Given the description of an element on the screen output the (x, y) to click on. 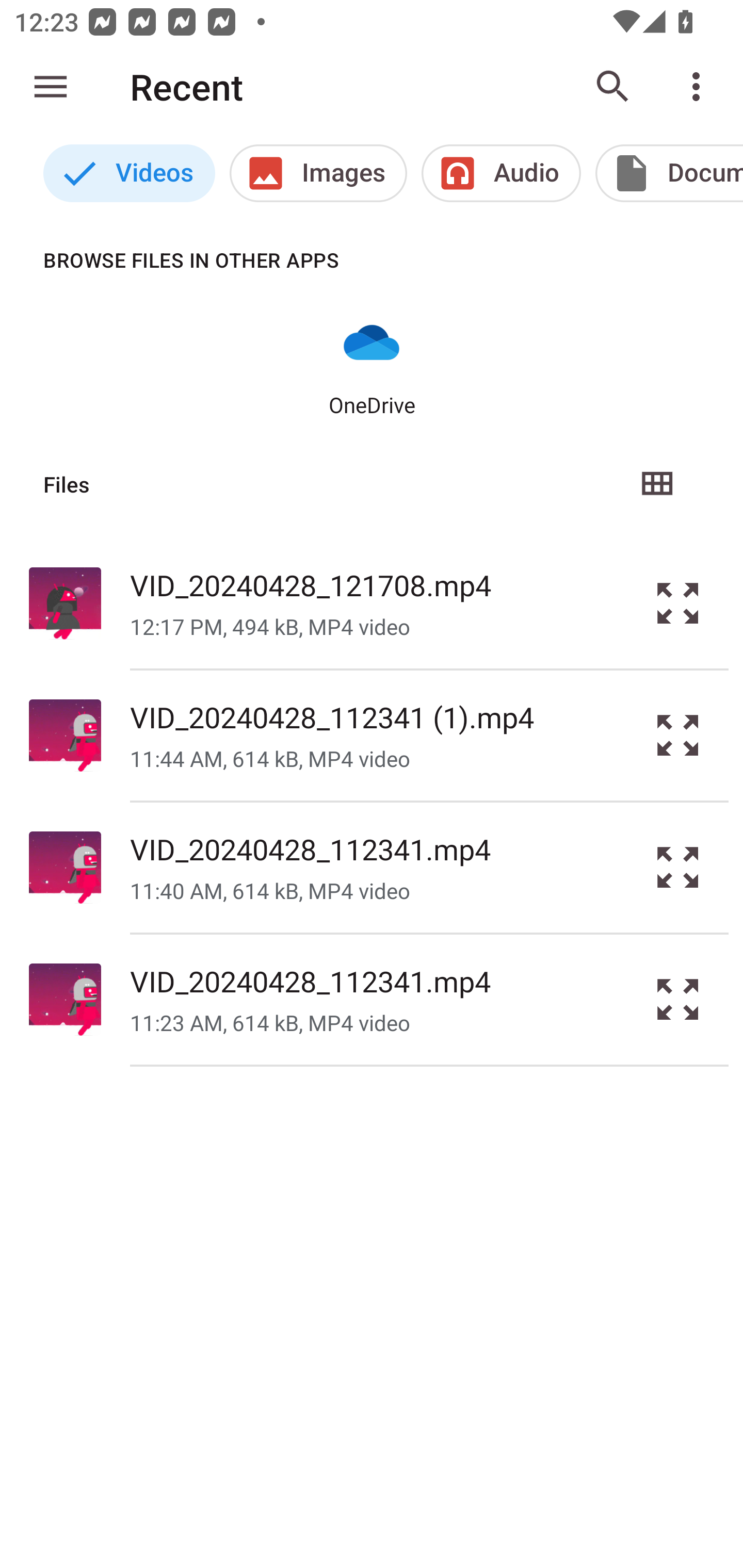
Show roots (50, 86)
Search (612, 86)
More options (699, 86)
Videos (129, 173)
Images (318, 173)
Audio (501, 173)
Documents (669, 173)
OneDrive (371, 365)
Grid view (655, 484)
Preview the file VID_20240428_121708.mp4 (677, 602)
Preview the file VID_20240428_112341 (1).mp4 (677, 736)
Preview the file VID_20240428_112341.mp4 (677, 867)
Preview the file VID_20240428_112341.mp4 (677, 999)
